Given the description of an element on the screen output the (x, y) to click on. 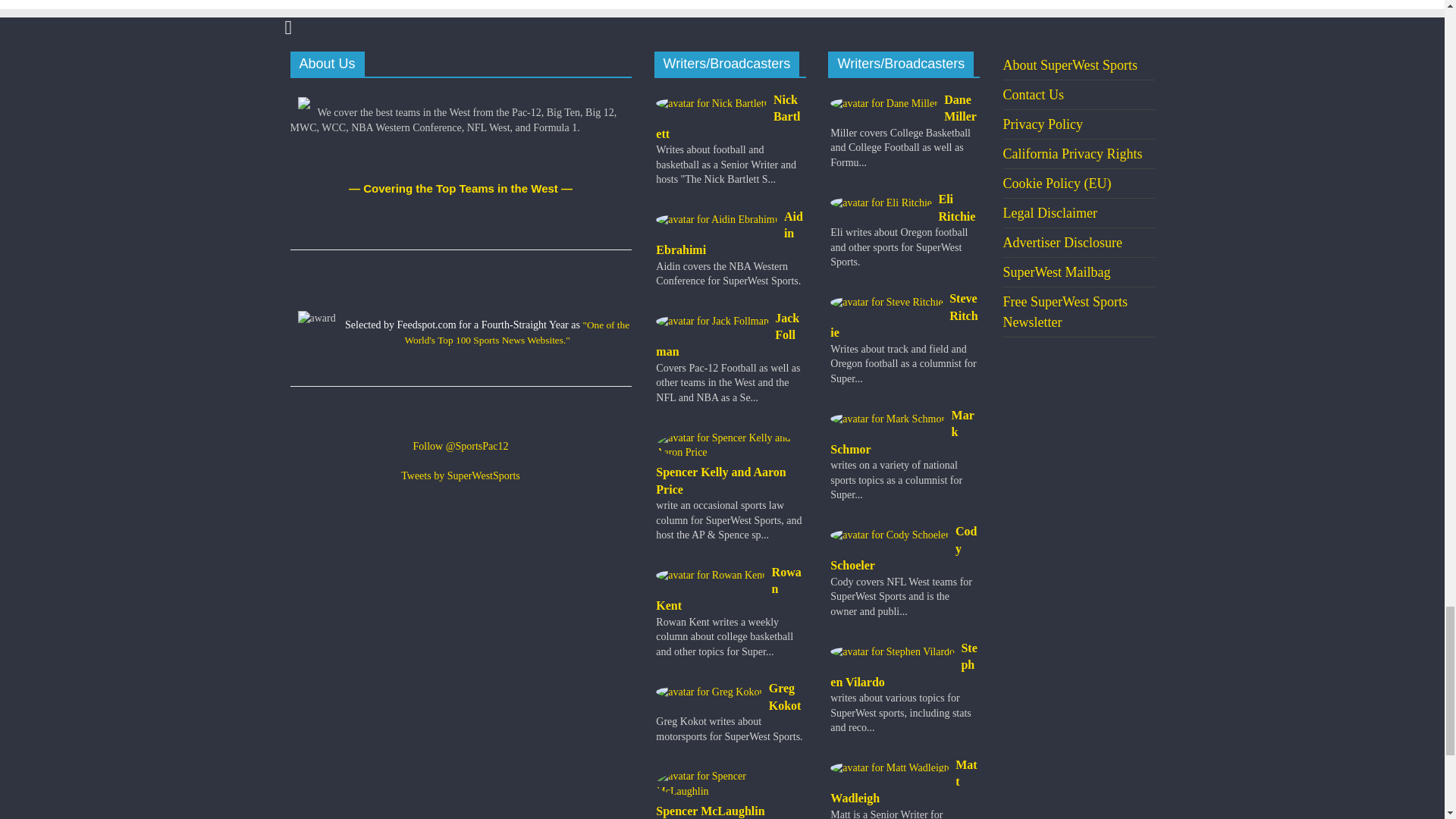
Steve Ritchie (902, 315)
Dane Miller (902, 108)
Rowan Kent (729, 589)
Greg Kokot (729, 697)
Spencer McLaughlin (729, 791)
Eli Ritchie (902, 207)
Spencer Kelly and Aaron Price (729, 461)
Nick Bartlett (729, 116)
Aidin Ebrahimi (729, 233)
Jack Follman (729, 335)
